Given the description of an element on the screen output the (x, y) to click on. 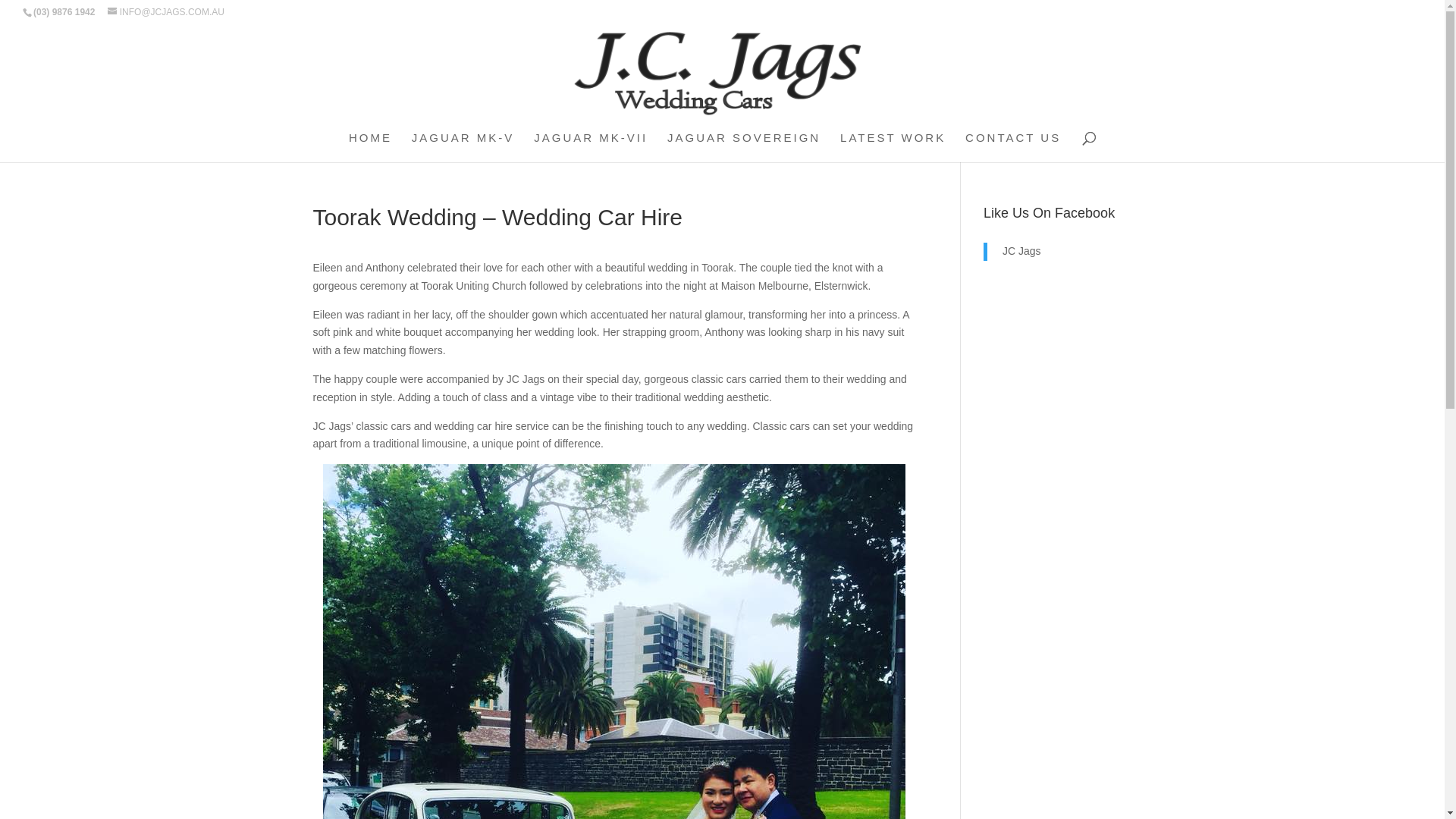
LATEST WORK Element type: text (892, 147)
JC Jags Element type: text (1021, 250)
INFO@JCJAGS.COM.AU Element type: text (165, 11)
JAGUAR SOVEREIGN Element type: text (743, 147)
JAGUAR MK-V Element type: text (462, 147)
HOME Element type: text (370, 147)
JAGUAR MK-VII Element type: text (590, 147)
CONTACT US Element type: text (1012, 147)
